Given the description of an element on the screen output the (x, y) to click on. 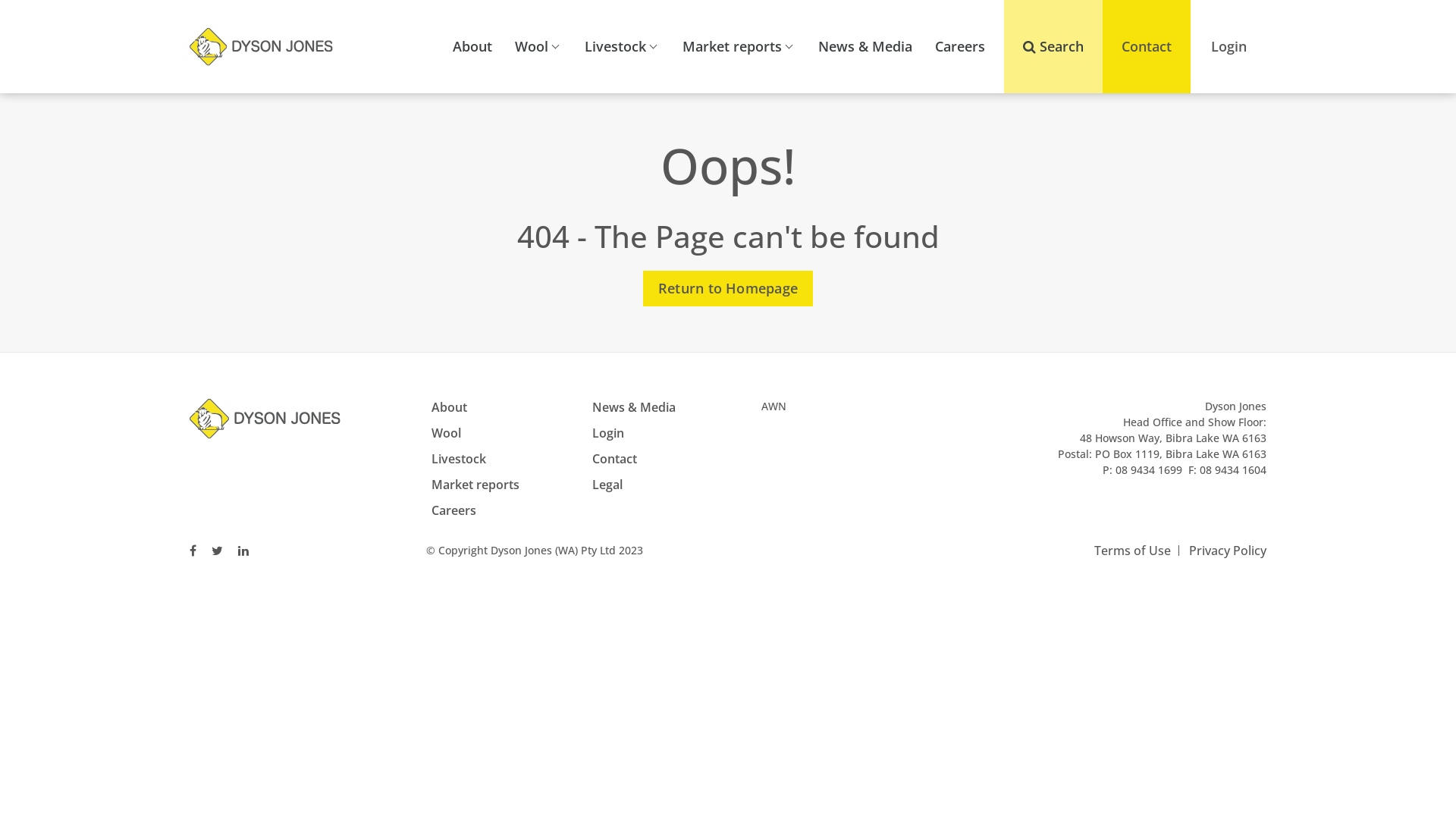
About Element type: text (472, 46)
AWN Element type: text (773, 405)
Wool Element type: text (537, 46)
Return to Homepage Element type: text (727, 288)
Login Element type: text (1228, 46)
Search Element type: text (1053, 46)
Login Element type: text (607, 432)
About Element type: text (449, 406)
Contact Element type: text (613, 458)
Careers Element type: text (960, 46)
Market reports Element type: text (738, 46)
Livestock Element type: text (458, 458)
News & Media Element type: text (632, 406)
Privacy Policy Element type: text (1227, 550)
Market reports Element type: text (475, 484)
Wool Element type: text (446, 432)
Terms of Use Element type: text (1132, 550)
Livestock Element type: text (621, 46)
Careers Element type: text (453, 510)
Legal Element type: text (606, 484)
News & Media Element type: text (865, 46)
Contact Element type: text (1146, 46)
